Given the description of an element on the screen output the (x, y) to click on. 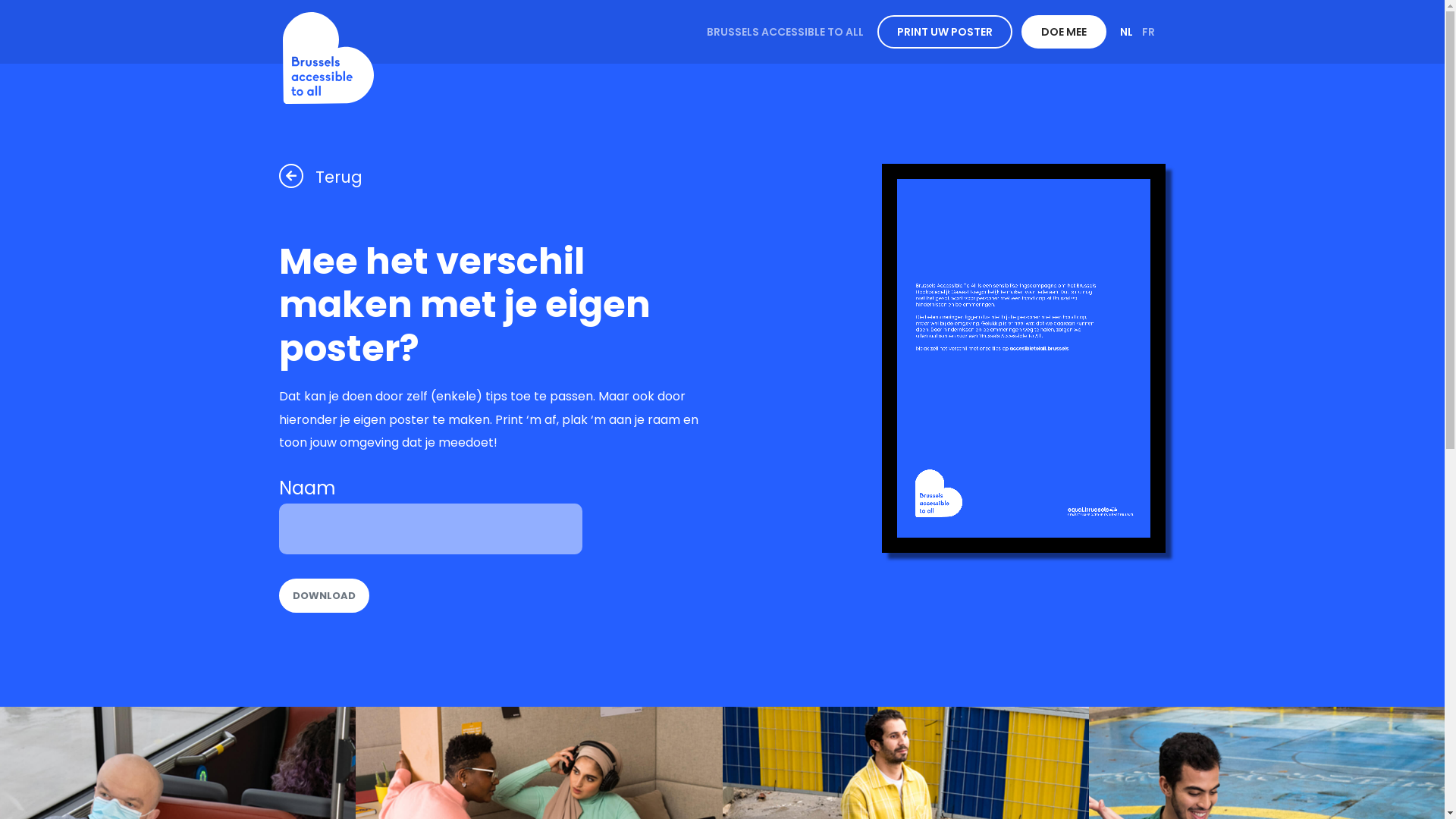
PRINT UW POSTER Element type: text (944, 31)
Terug Element type: text (320, 177)
Equal.brussels Element type: hover (327, 57)
DOE MEE Element type: text (1063, 31)
FR Element type: text (1148, 31)
NL Element type: text (1125, 31)
BRUSSELS ACCESSIBLE TO ALL Element type: text (784, 31)
Download Element type: text (324, 595)
